Given the description of an element on the screen output the (x, y) to click on. 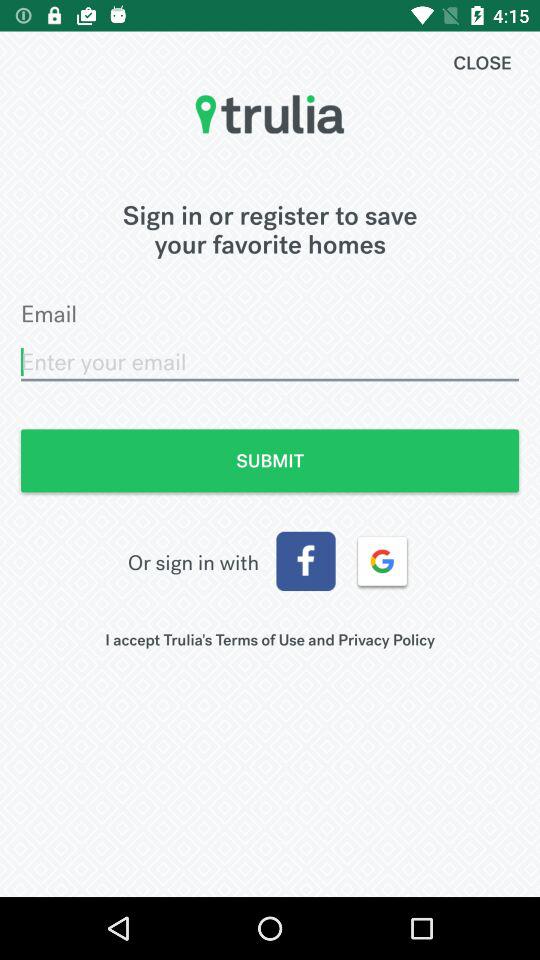
open icon next to the or sign in icon (305, 561)
